Given the description of an element on the screen output the (x, y) to click on. 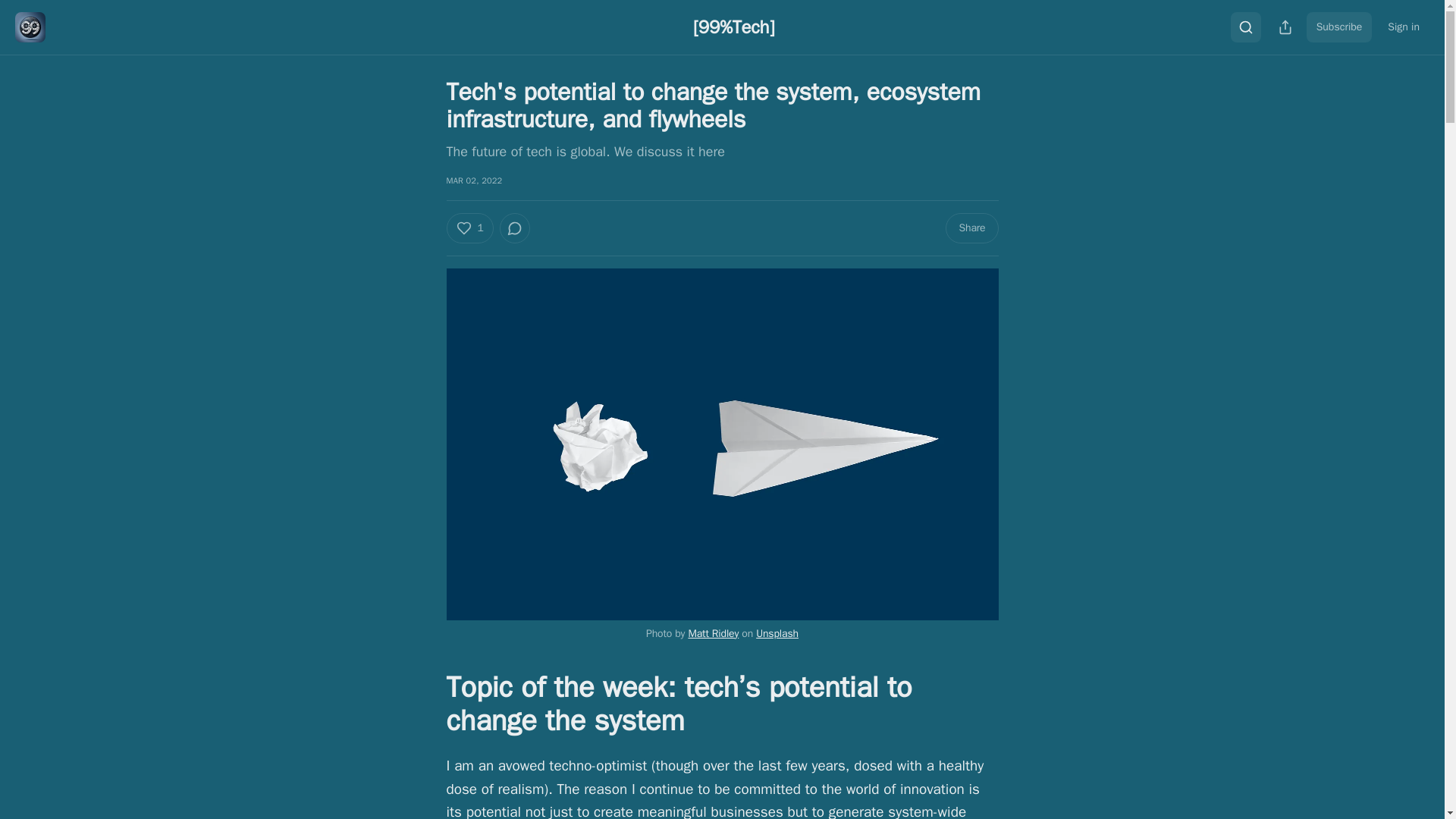
Share (970, 227)
Unsplash (776, 632)
Subscribe (1339, 27)
1 (469, 227)
Matt Ridley (712, 632)
Sign in (1403, 27)
